Given the description of an element on the screen output the (x, y) to click on. 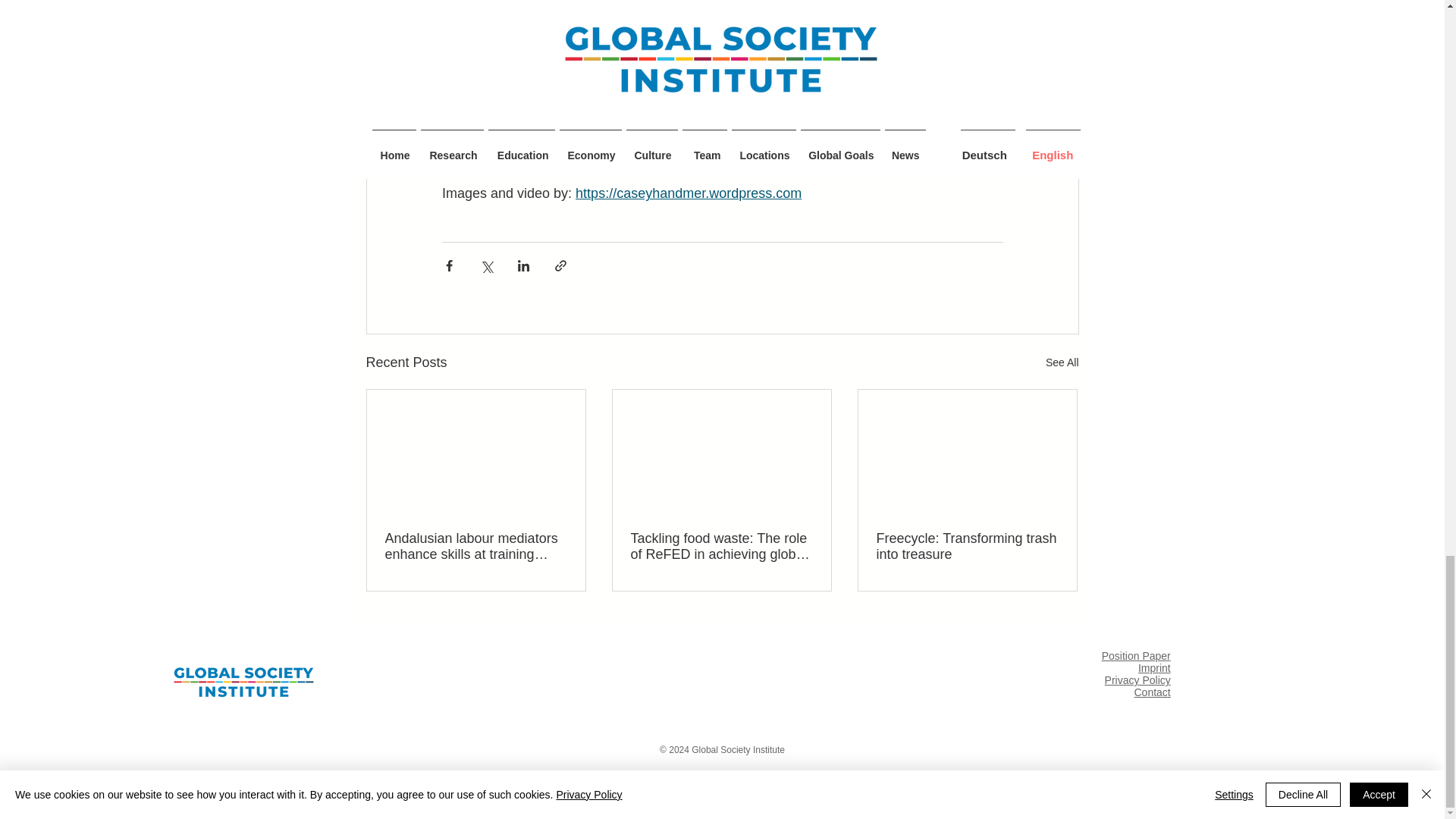
Imprint (1154, 667)
Contact (1152, 692)
See All (1061, 362)
Freecycle: Transforming trash into treasure (967, 546)
Position Paper (1136, 655)
Captura de pantalla 2023-03-24 a las 9.4 (243, 681)
Privacy Policy (1137, 680)
Sustainable Cities and Communities (879, 70)
